Given the description of an element on the screen output the (x, y) to click on. 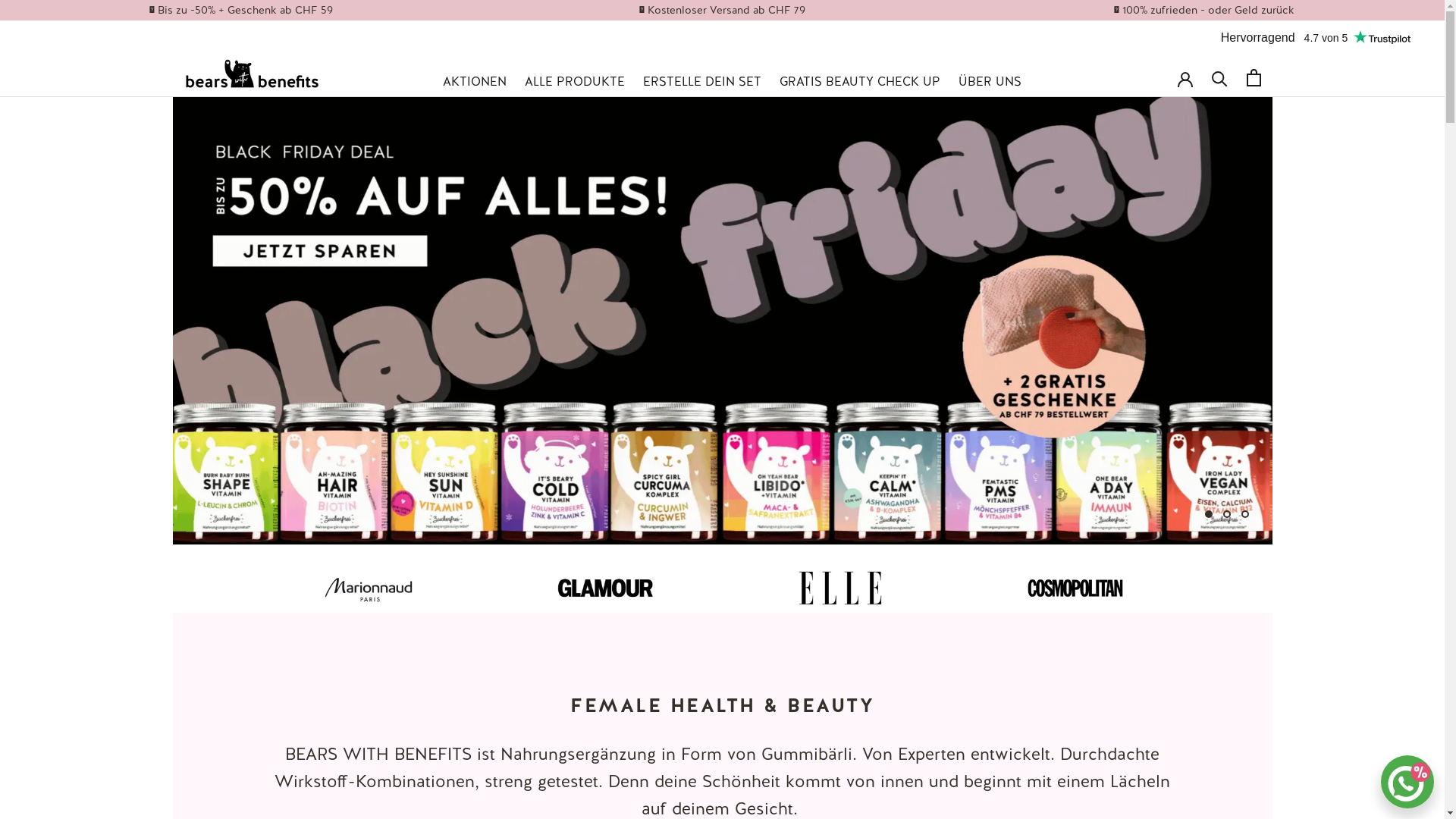
GRATIS BEAUTY CHECK UP
GRATIS BEAUTY CHECK UP Element type: text (859, 81)
ERSTELLE DEIN SET
ERSTELLE DEIN SET Element type: text (702, 81)
AKTIONEN Element type: text (474, 81)
ALLE PRODUKTE Element type: text (574, 81)
